Given the description of an element on the screen output the (x, y) to click on. 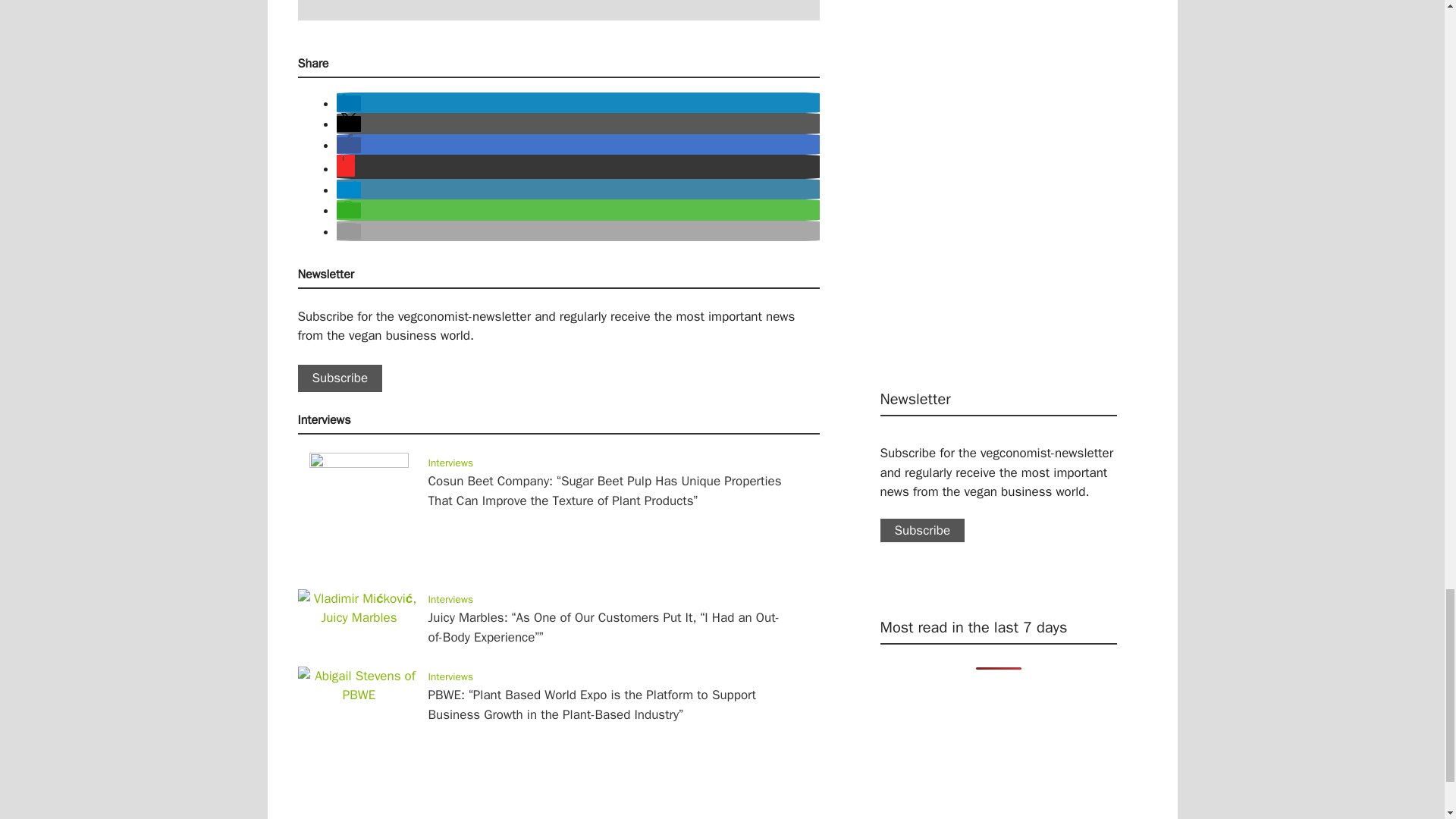
Share on Whatsapp (348, 210)
Share on Telegram (348, 189)
Share on LinkedIn (348, 103)
Share on Flipboard (345, 168)
Share on Facebook (348, 145)
Share on X (348, 123)
